Given the description of an element on the screen output the (x, y) to click on. 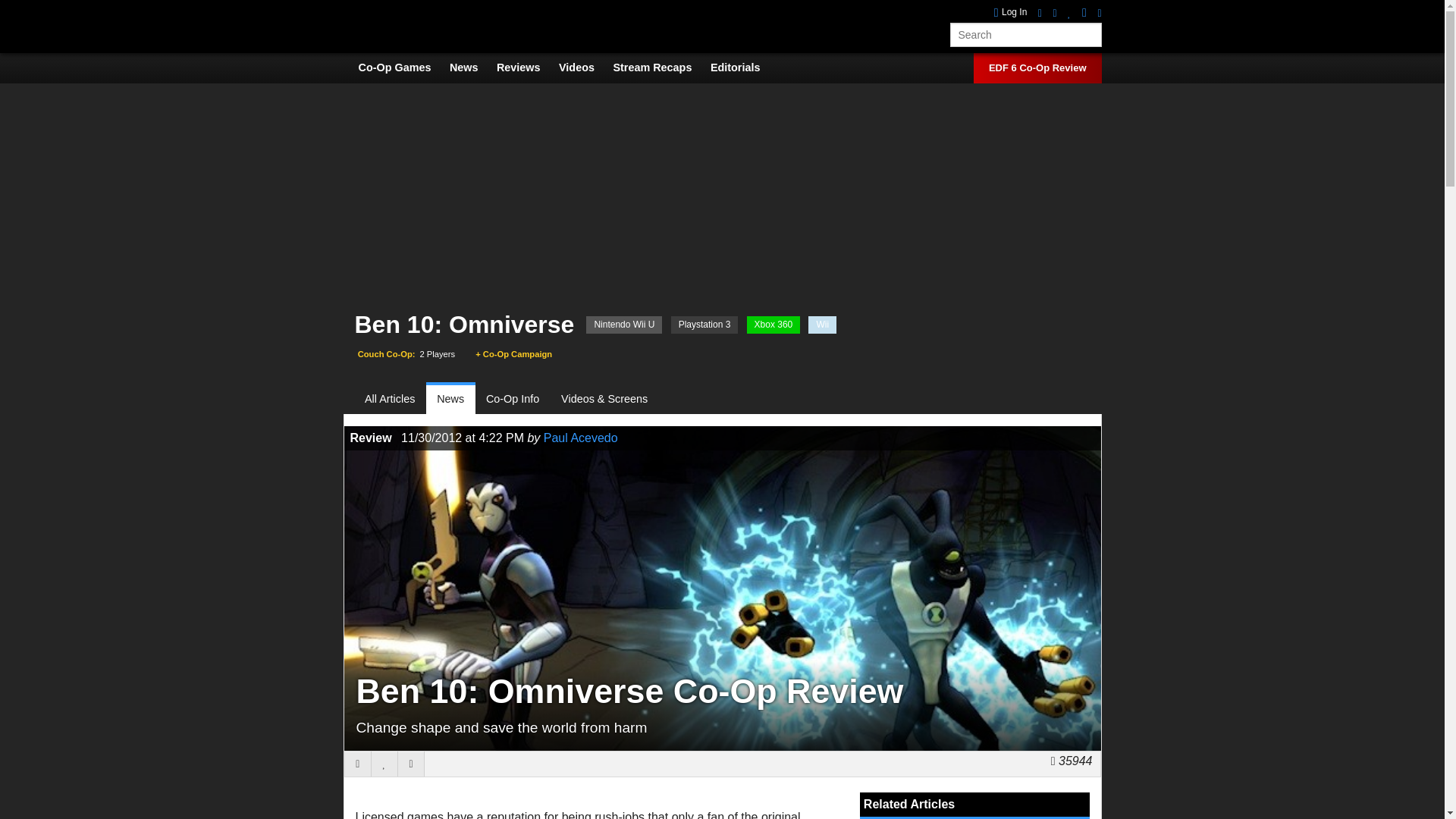
Videos (584, 67)
Weekly Video Streams and VODs from Co-Optimus (659, 67)
Nintendo Wii U (624, 324)
Co-Op Info (513, 398)
Playstation 3 (704, 324)
 Log In (1010, 11)
Editorials (743, 67)
News (451, 398)
Co-Op Games (401, 67)
Reviews (526, 67)
